Given the description of an element on the screen output the (x, y) to click on. 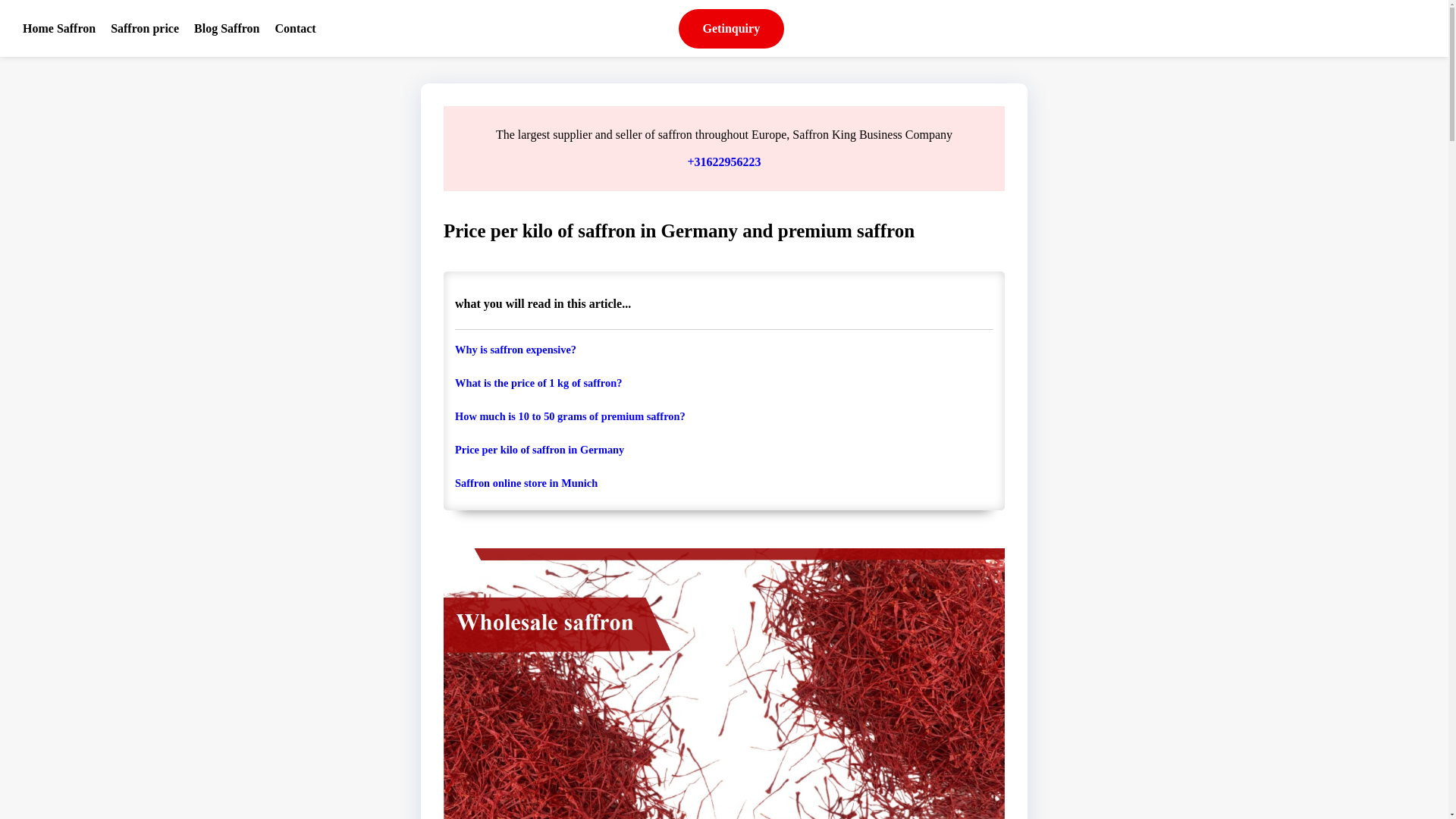
Saffron online store in Munich (723, 482)
Why is saffron expensive? (723, 349)
Price per kilo of saffron in Germany (723, 449)
Blog Saffron (226, 27)
Getinquiry (731, 28)
How much is 10 to 50 grams of premium saffron? (723, 415)
Saffron price (144, 27)
Contact (294, 27)
Home Saffron (58, 27)
What is the price of 1 kg of saffron? (723, 382)
